Given the description of an element on the screen output the (x, y) to click on. 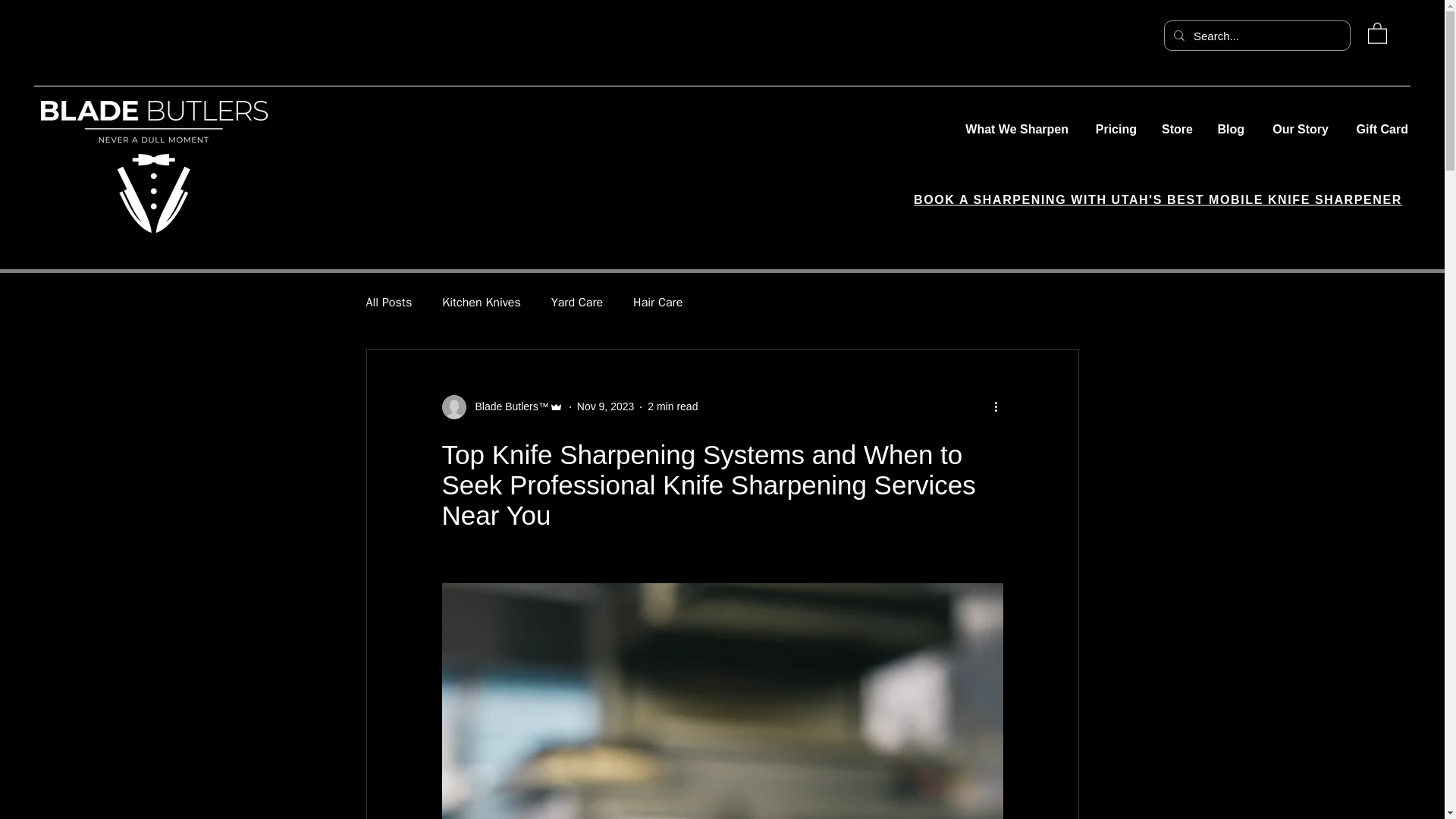
2 min read (672, 406)
What We Sharpen (1009, 128)
BOOK A SHARPENING WITH UTAH'S BEST MOBILE KNIFE SHARPENER (1158, 199)
Pricing (1114, 128)
Nov 9, 2023 (605, 406)
Our Story (1297, 128)
Hair Care (657, 302)
Gift Card (1379, 128)
Blog (1229, 128)
Yard Care (576, 302)
